Given the description of an element on the screen output the (x, y) to click on. 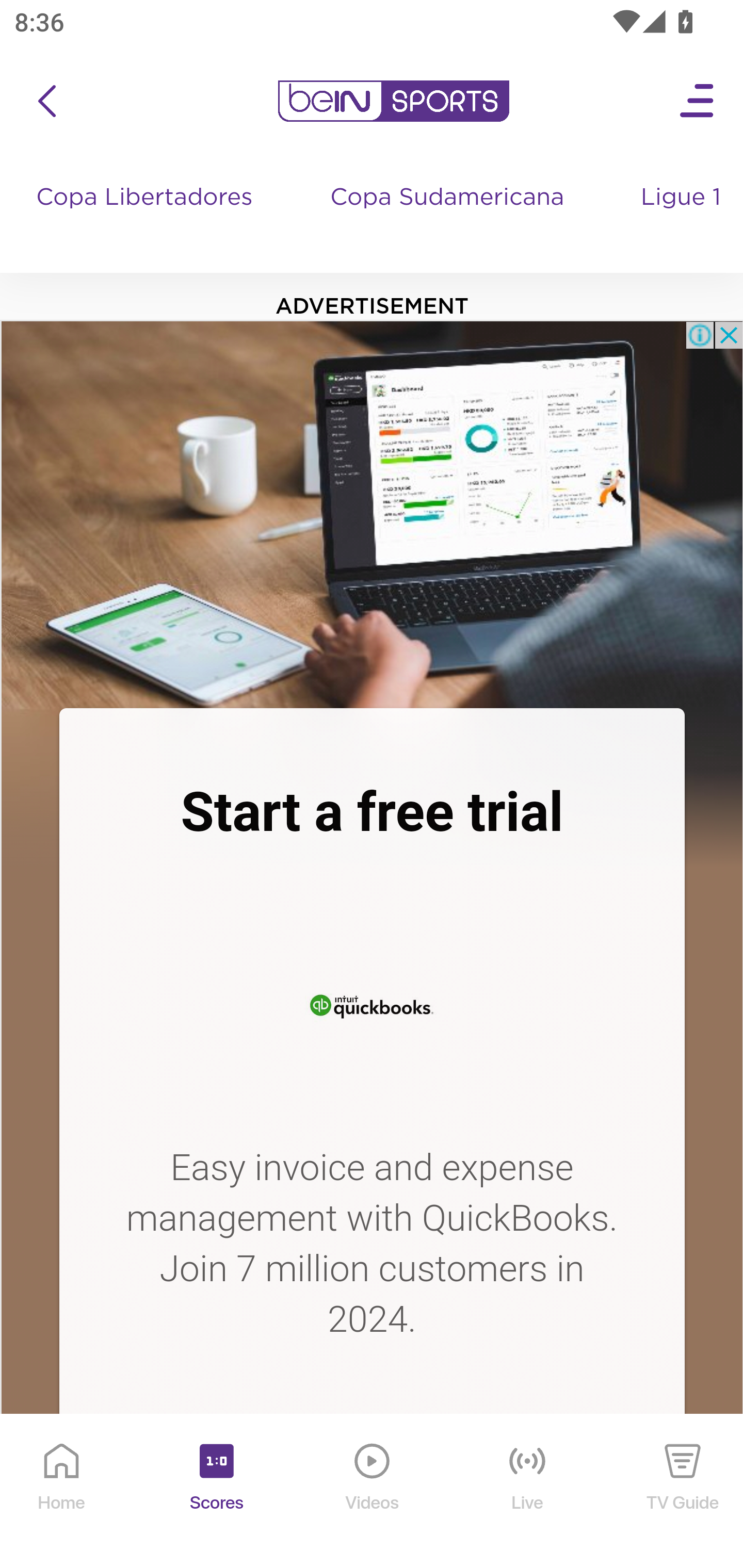
en-us?platform=mobile_android bein logo (392, 101)
icon back (46, 101)
Open Menu Icon (697, 101)
Copa Libertadores (146, 216)
Copa Sudamericana (448, 216)
Ligue 1 (682, 216)
%3Fcid%3Dppc_ROW_%7Bdscampaign%7D%26gclsrc%3Daw (371, 513)
Start a free trial (371, 812)
%3Fcid%3Dppc_ROW_%7Bdscampaign%7D%26gclsrc%3Daw (371, 1002)
%3Fcid%3Dppc_ROW_%7Bdscampaign%7D%26gclsrc%3Daw (371, 1480)
Home Home Icon Home (61, 1491)
Scores Scores Icon Scores (216, 1491)
TV Guide TV Guide Icon TV Guide (682, 1491)
